Given the description of an element on the screen output the (x, y) to click on. 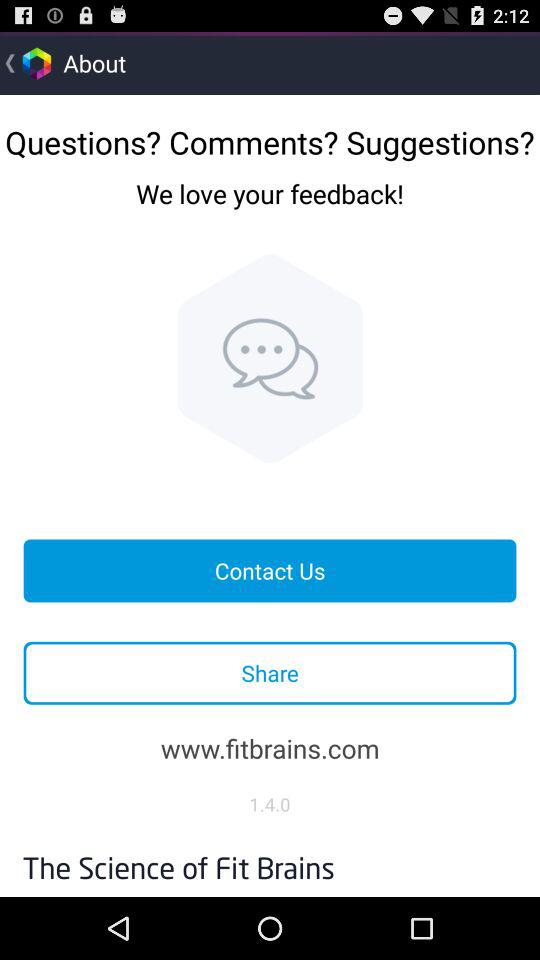
select icon below the 1.4.0 item (269, 863)
